Given the description of an element on the screen output the (x, y) to click on. 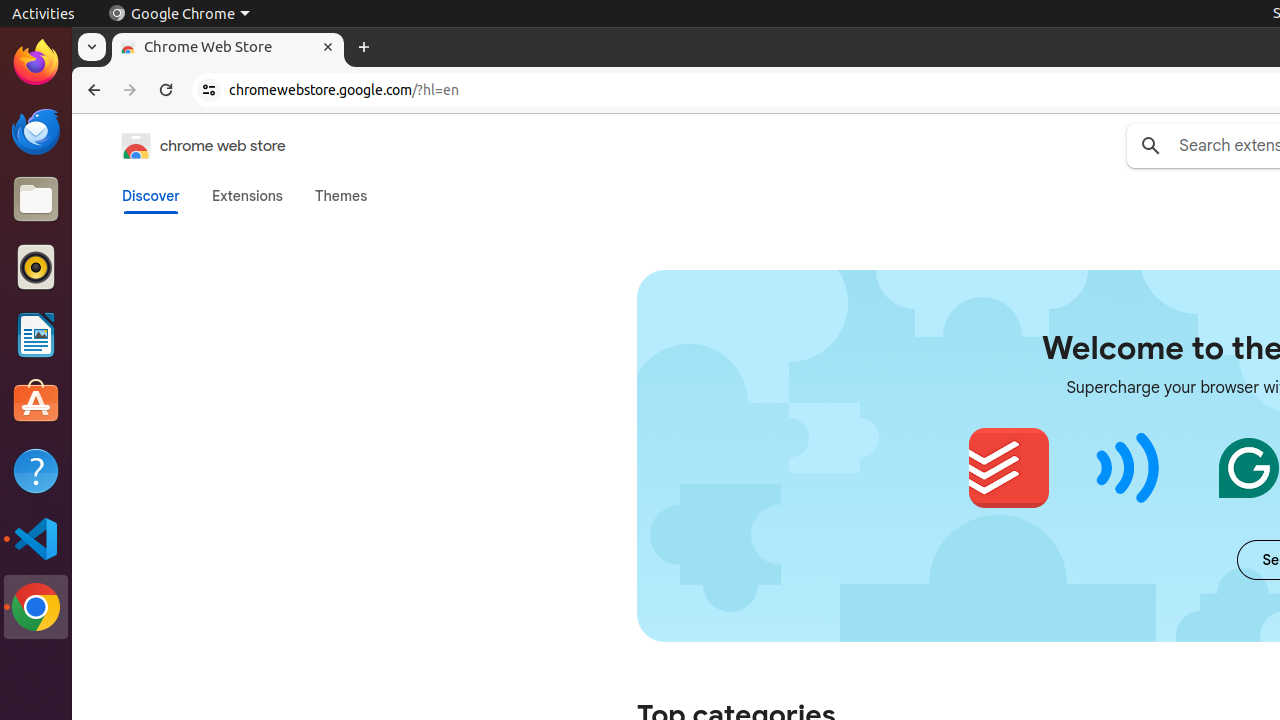
Themes Element type: page-tab (341, 196)
